Given the description of an element on the screen output the (x, y) to click on. 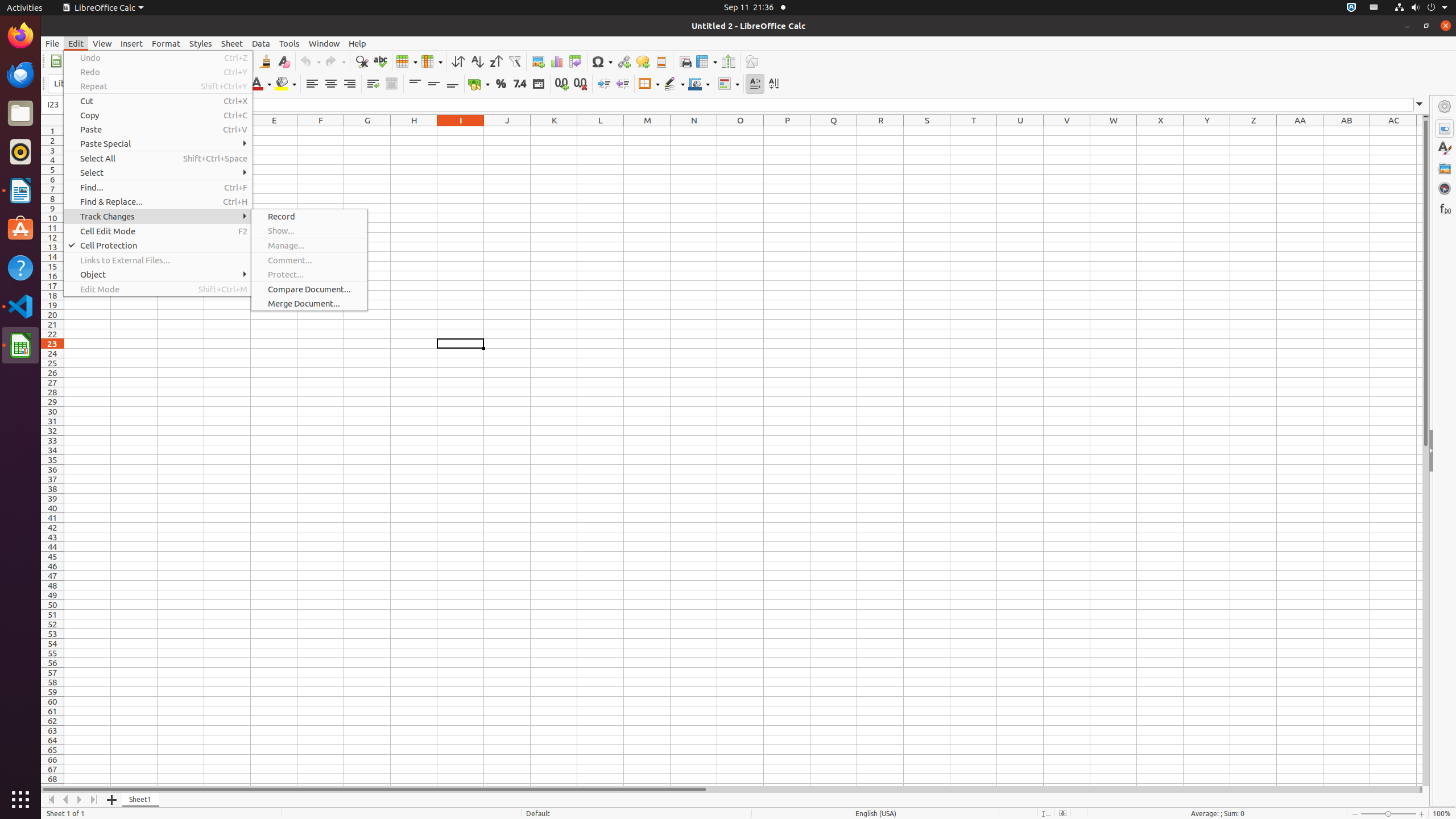
Align Left Element type: push-button (311, 83)
LibreOffice Calc Element type: push-button (20, 344)
S1 Element type: table-cell (926, 130)
Increase Element type: push-button (603, 83)
V1 Element type: table-cell (1066, 130)
